Given the description of an element on the screen output the (x, y) to click on. 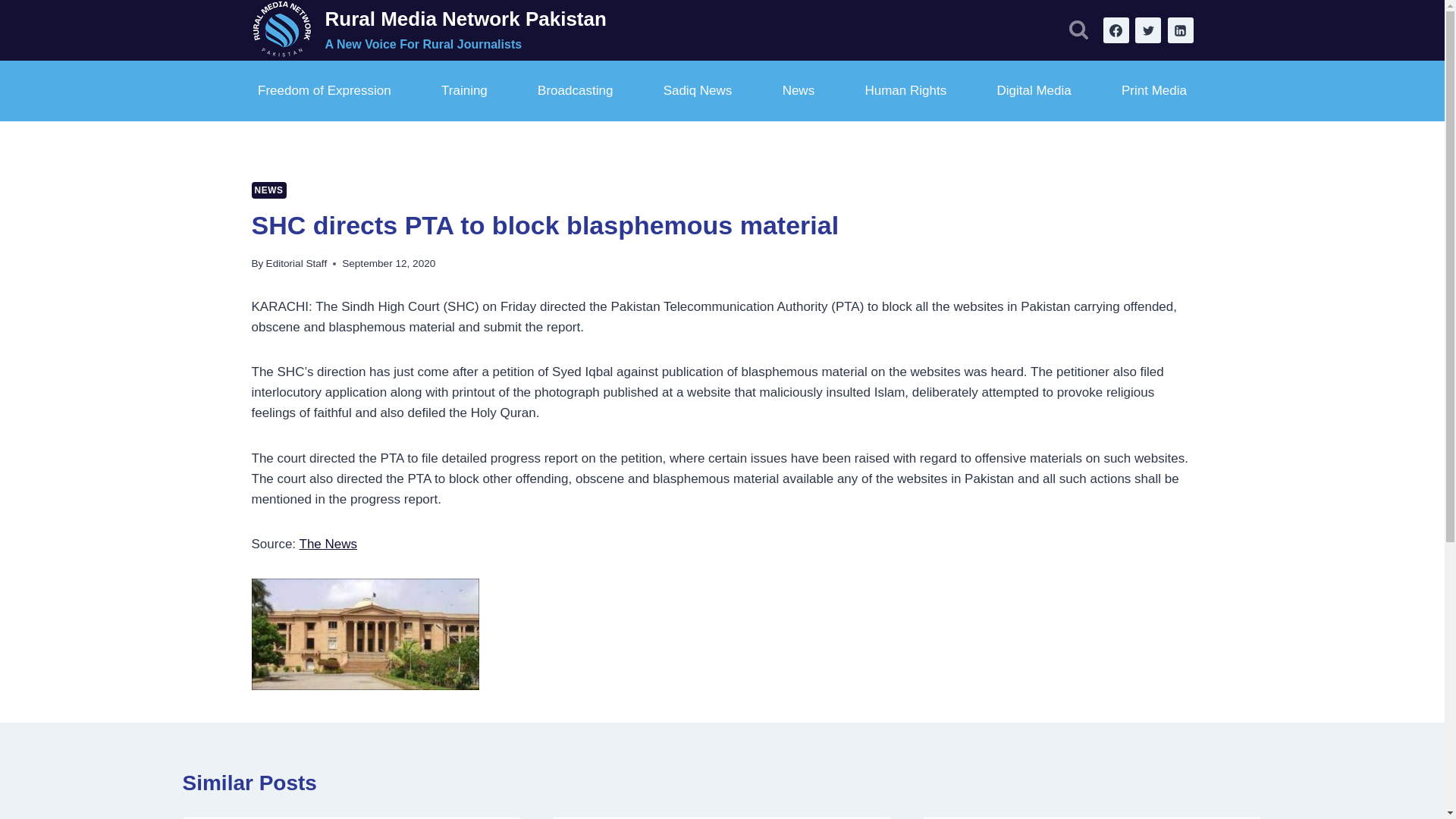
Freedom of Expression (324, 90)
Training (465, 90)
Sadiq News (697, 90)
News (798, 90)
The News (328, 544)
Broadcasting (575, 90)
Editorial Staff (296, 263)
Digital Media (1033, 90)
Human Rights (906, 90)
